Given the description of an element on the screen output the (x, y) to click on. 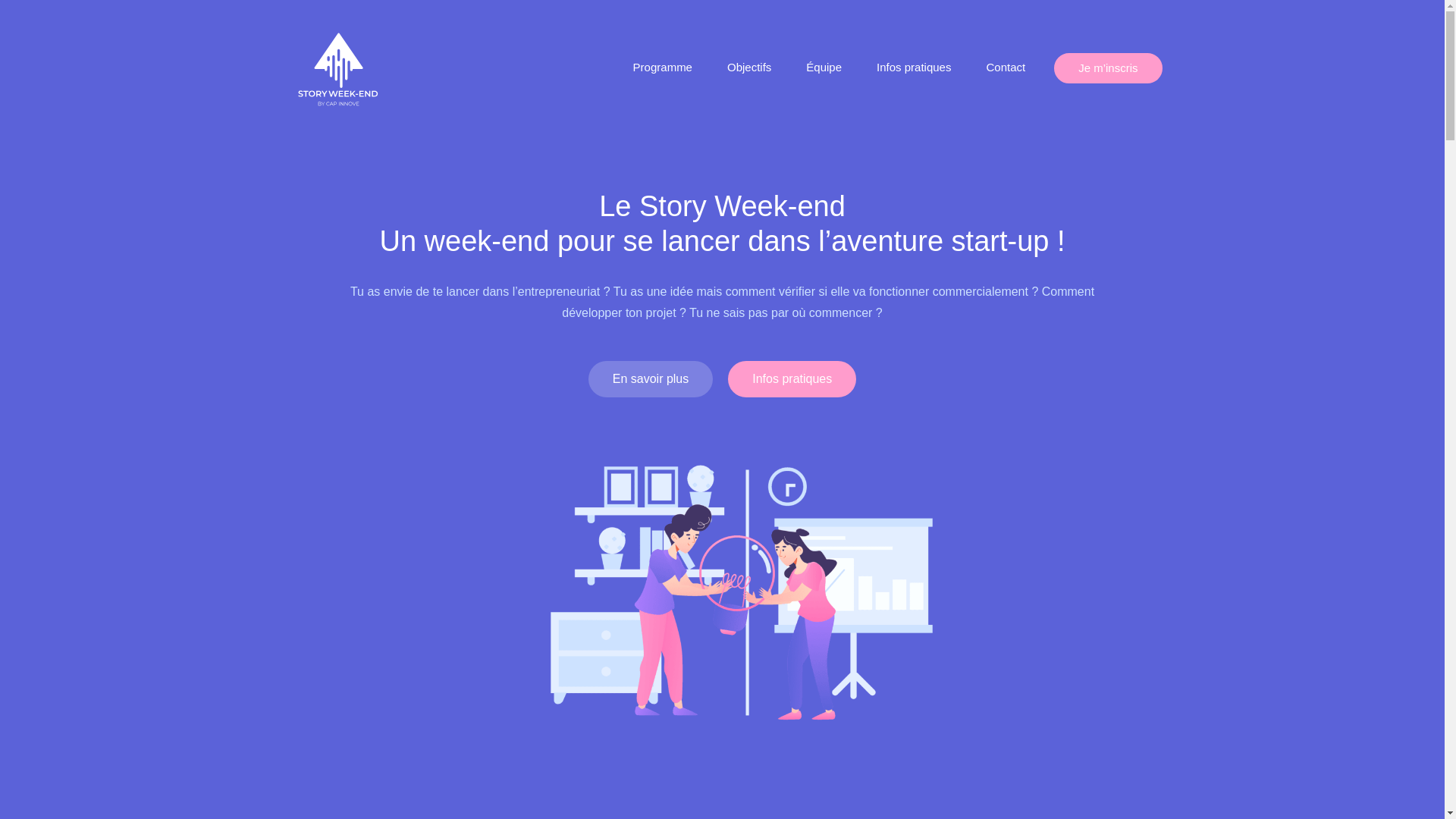
Programme Element type: text (662, 67)
Infos pratiques Element type: text (792, 378)
Infos pratiques Element type: text (913, 67)
Contact Element type: text (1005, 67)
En savoir plus Element type: text (650, 378)
Objectifs Element type: text (749, 67)
